Given the description of an element on the screen output the (x, y) to click on. 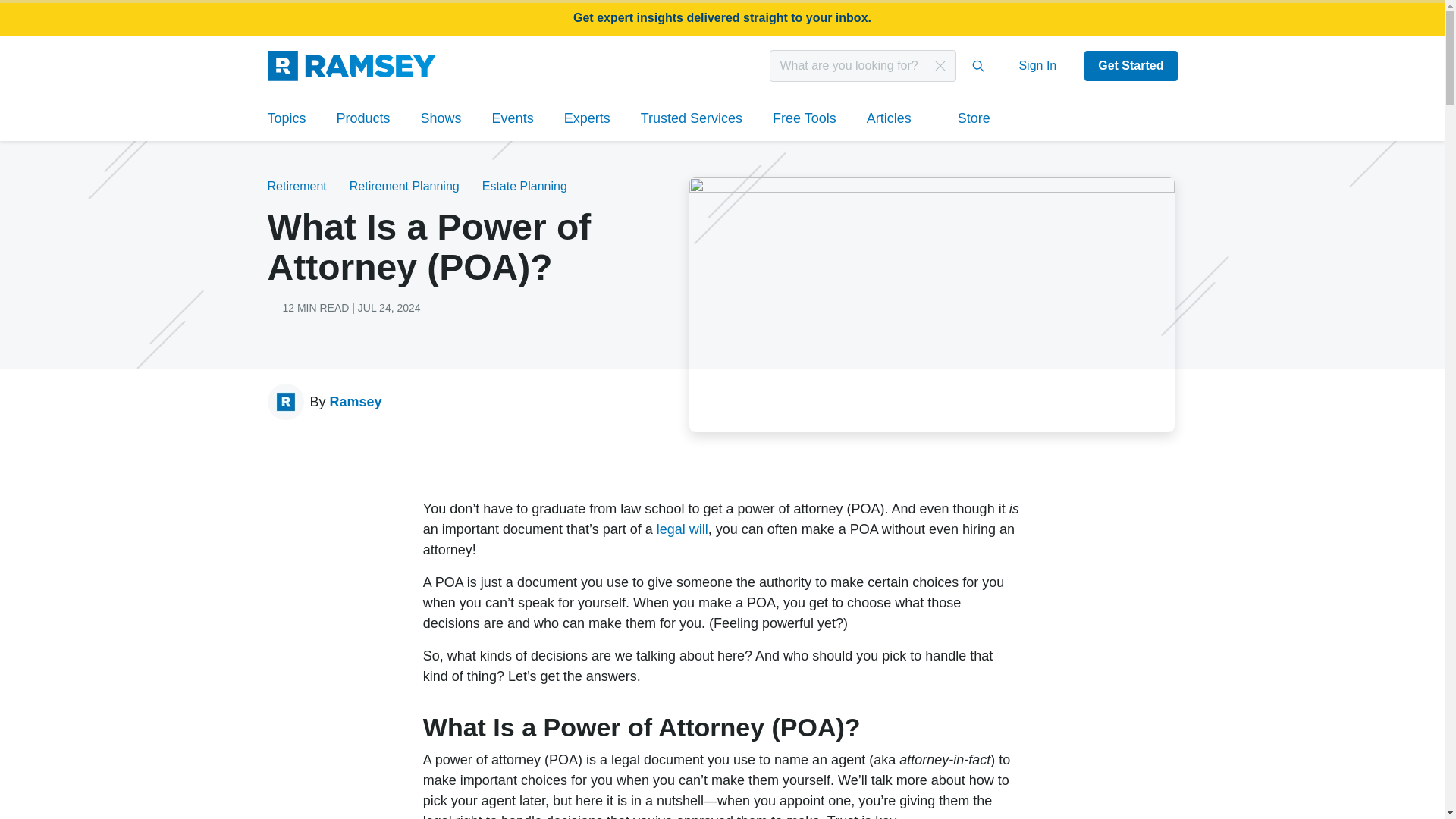
Topics (293, 118)
Search (978, 65)
Products (363, 118)
Sign In (1037, 65)
Get Started (1130, 65)
Get expert insights delivered straight to your inbox. (721, 17)
